Given the description of an element on the screen output the (x, y) to click on. 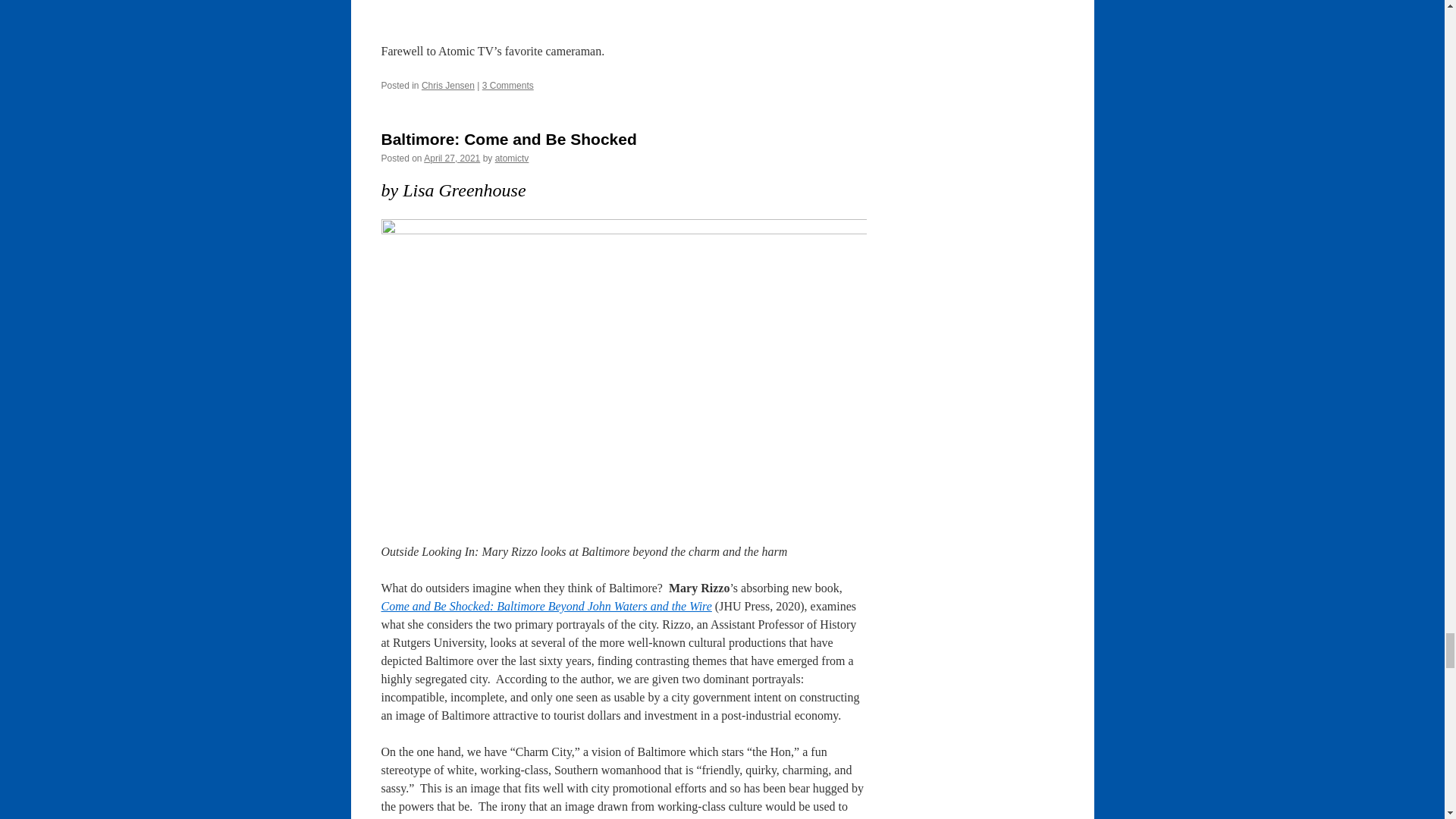
12:23 pm (451, 158)
View all posts by atomictv (512, 158)
